Given the description of an element on the screen output the (x, y) to click on. 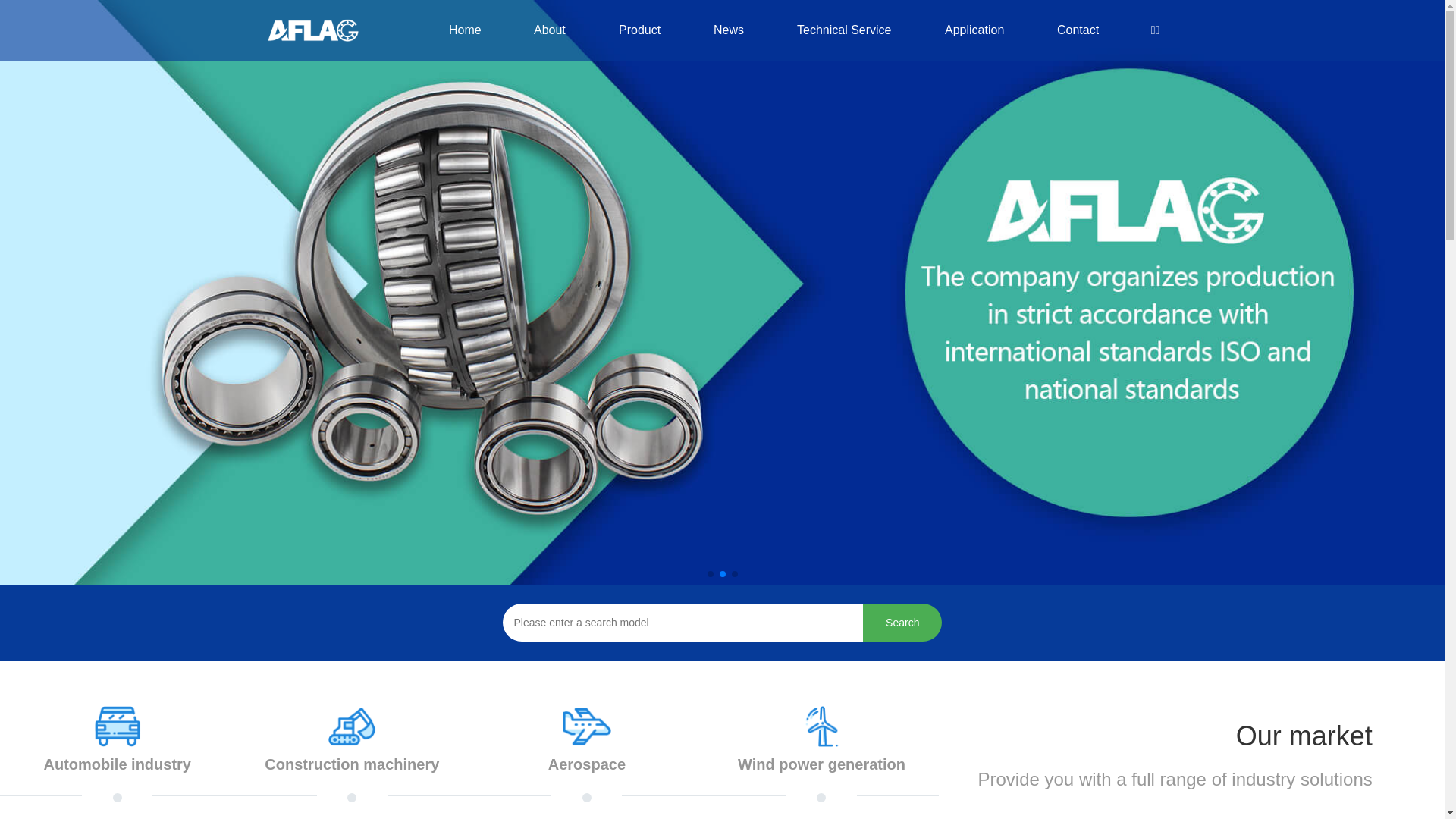
About Element type: text (549, 30)
Automobile industry Element type: text (117, 758)
Wind power generation Element type: text (821, 758)
Aerospace Element type: text (586, 758)
Search Element type: text (901, 622)
Product Element type: text (639, 30)
News Element type: text (728, 30)
Home Element type: text (464, 30)
Technical Service Element type: text (844, 30)
Contact Element type: text (1077, 30)
Construction machinery Element type: text (352, 758)
Application Element type: text (973, 30)
